Given the description of an element on the screen output the (x, y) to click on. 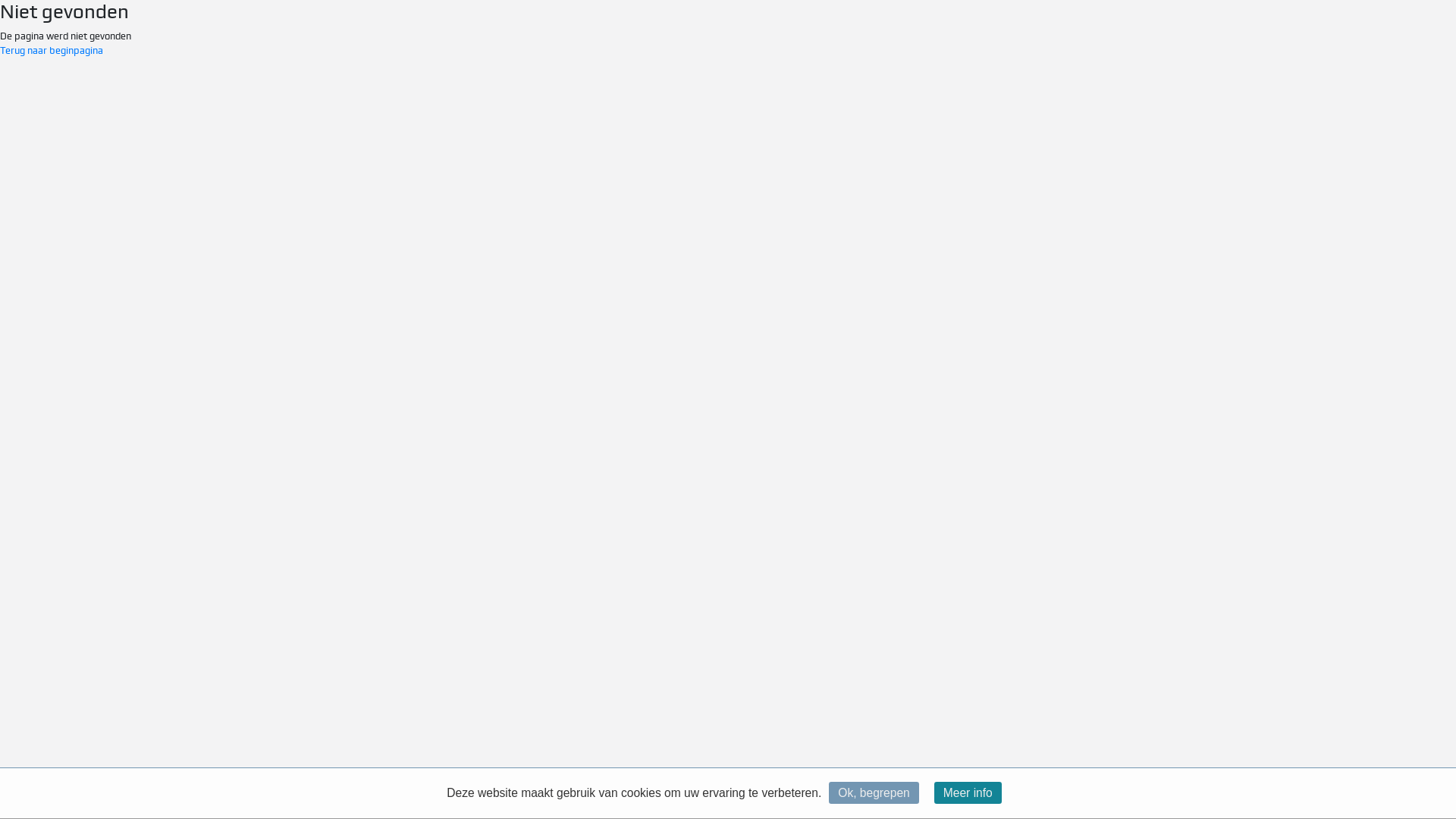
Terug naar beginpagina Element type: text (51, 50)
